Given the description of an element on the screen output the (x, y) to click on. 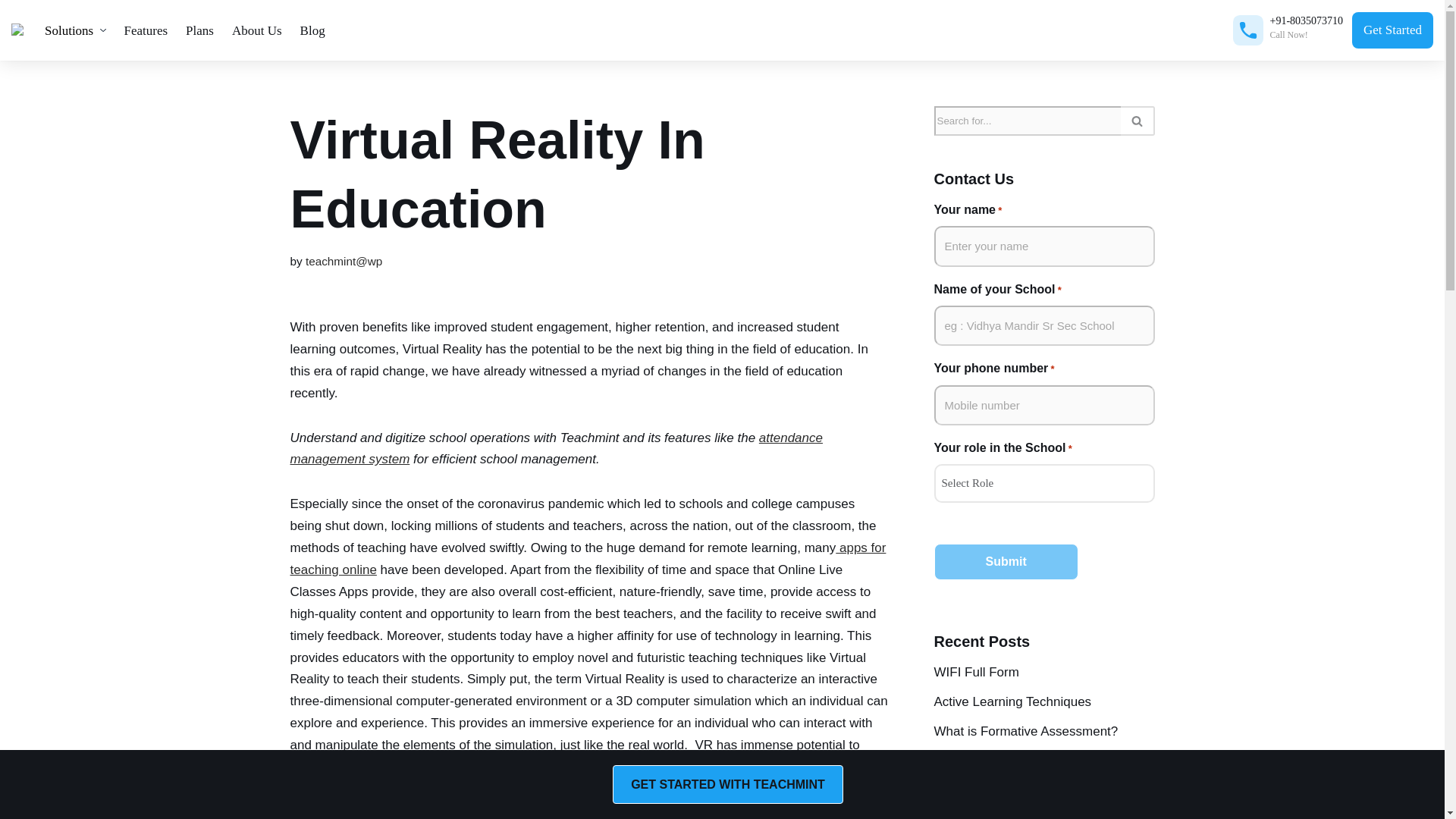
Features (146, 30)
About Us (256, 30)
Skip to content (11, 31)
Submit (1006, 561)
Blog (312, 30)
Plans (199, 30)
